Given the description of an element on the screen output the (x, y) to click on. 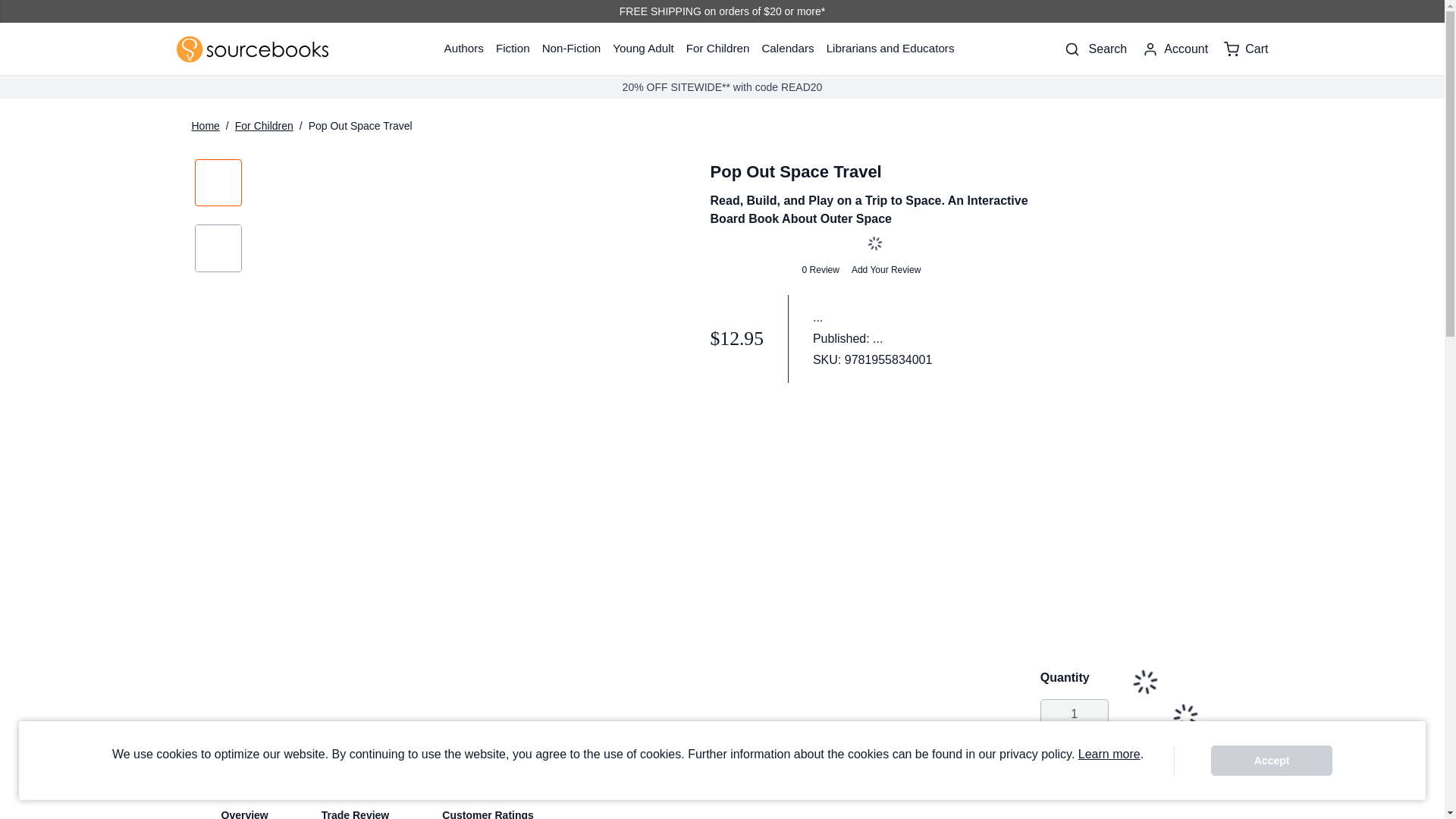
0 out of 5 stars (750, 269)
Sourcebooks (251, 49)
Non-Fiction (571, 49)
1 (1074, 714)
Learn more (1109, 753)
